Given the description of an element on the screen output the (x, y) to click on. 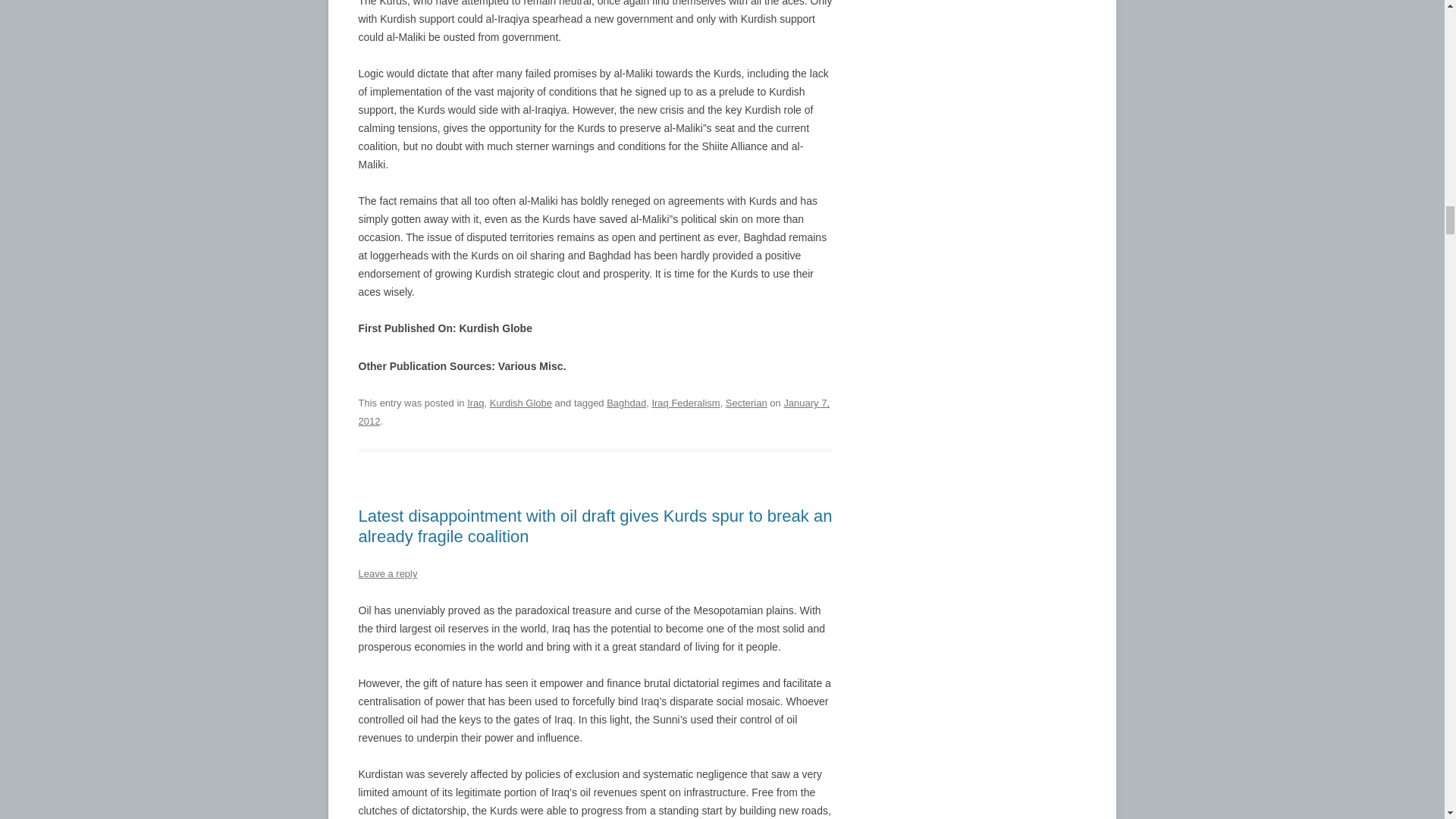
Iraq Federalism (684, 402)
12:00 am (593, 411)
Iraq (475, 402)
Baghdad (626, 402)
Leave a reply (387, 573)
January 7, 2012 (593, 411)
Kurdish Globe (520, 402)
Secterian (746, 402)
